Given the description of an element on the screen output the (x, y) to click on. 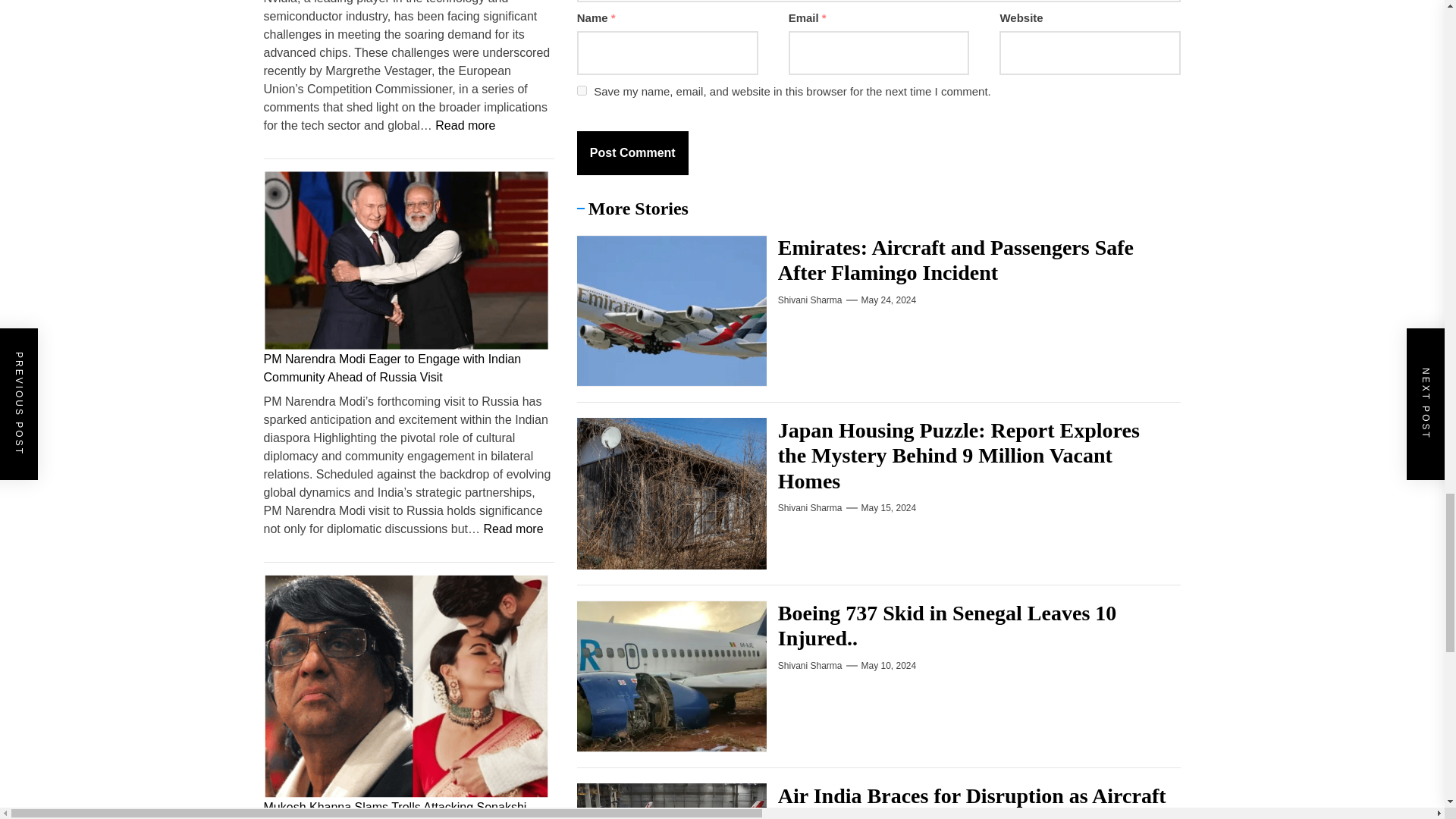
Post Comment (632, 153)
yes (581, 90)
